Given the description of an element on the screen output the (x, y) to click on. 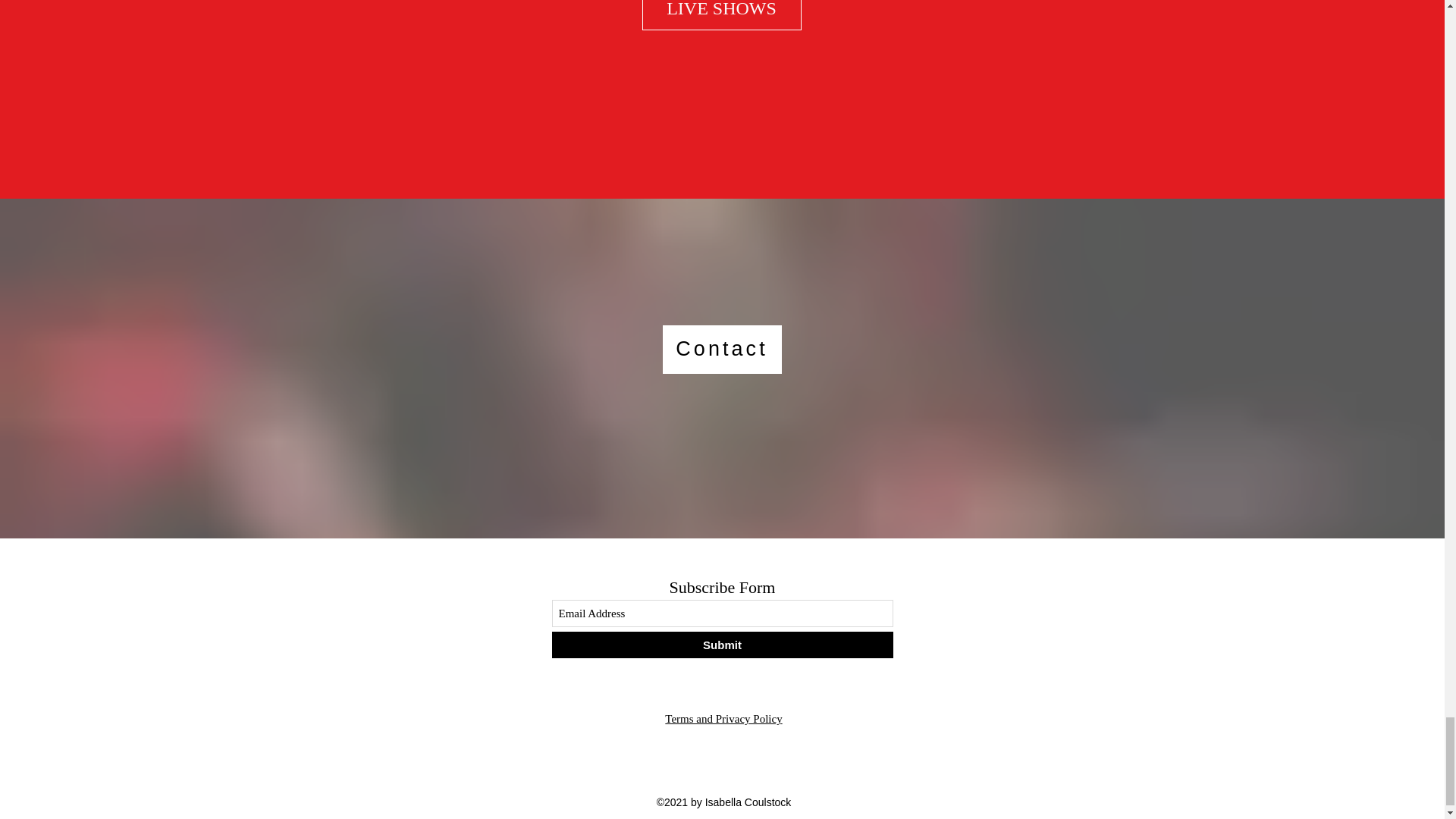
LIVE SHOWS (721, 15)
Terms and Privacy Policy (723, 718)
Contact (721, 349)
Submit (722, 644)
